Given the description of an element on the screen output the (x, y) to click on. 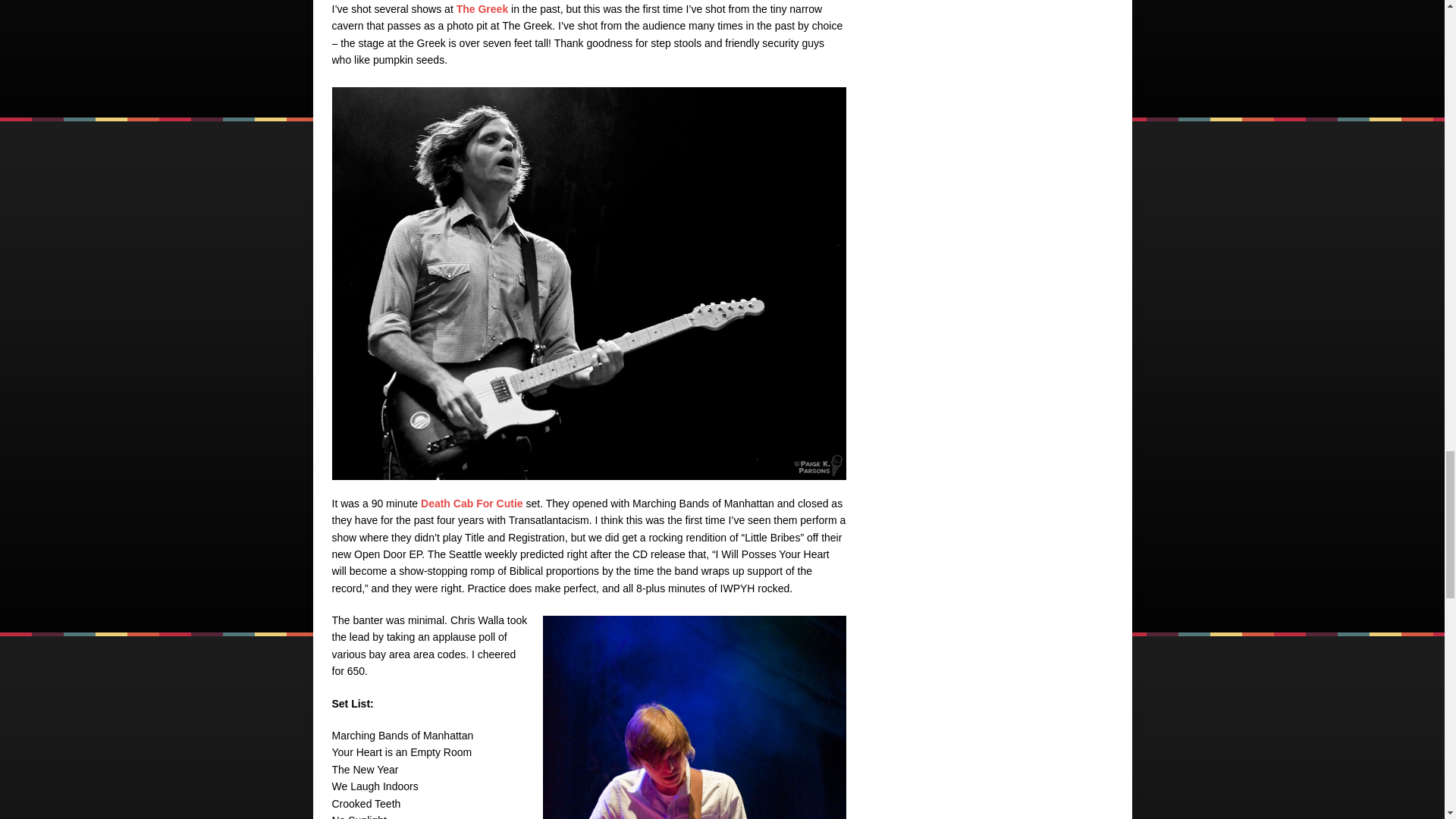
Chris Walla (694, 717)
